Given the description of an element on the screen output the (x, y) to click on. 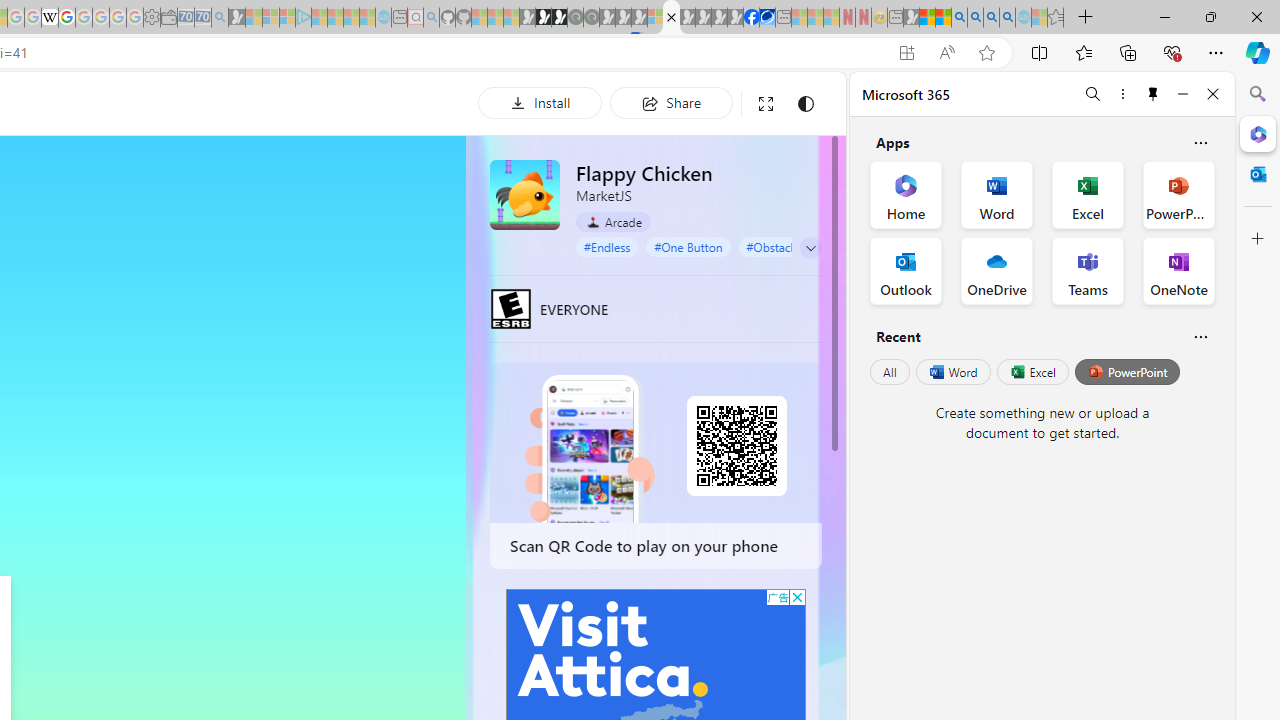
#Endless (607, 246)
Collections (1128, 52)
Class: expand-arrow neutral (810, 247)
Word Office App (996, 194)
Favorites - Sleeping (1055, 17)
AirNow.gov (767, 17)
MSN - Sleeping (911, 17)
Nordace | Facebook (751, 17)
Install (540, 102)
AutomationID: cbb (797, 596)
